Given the description of an element on the screen output the (x, y) to click on. 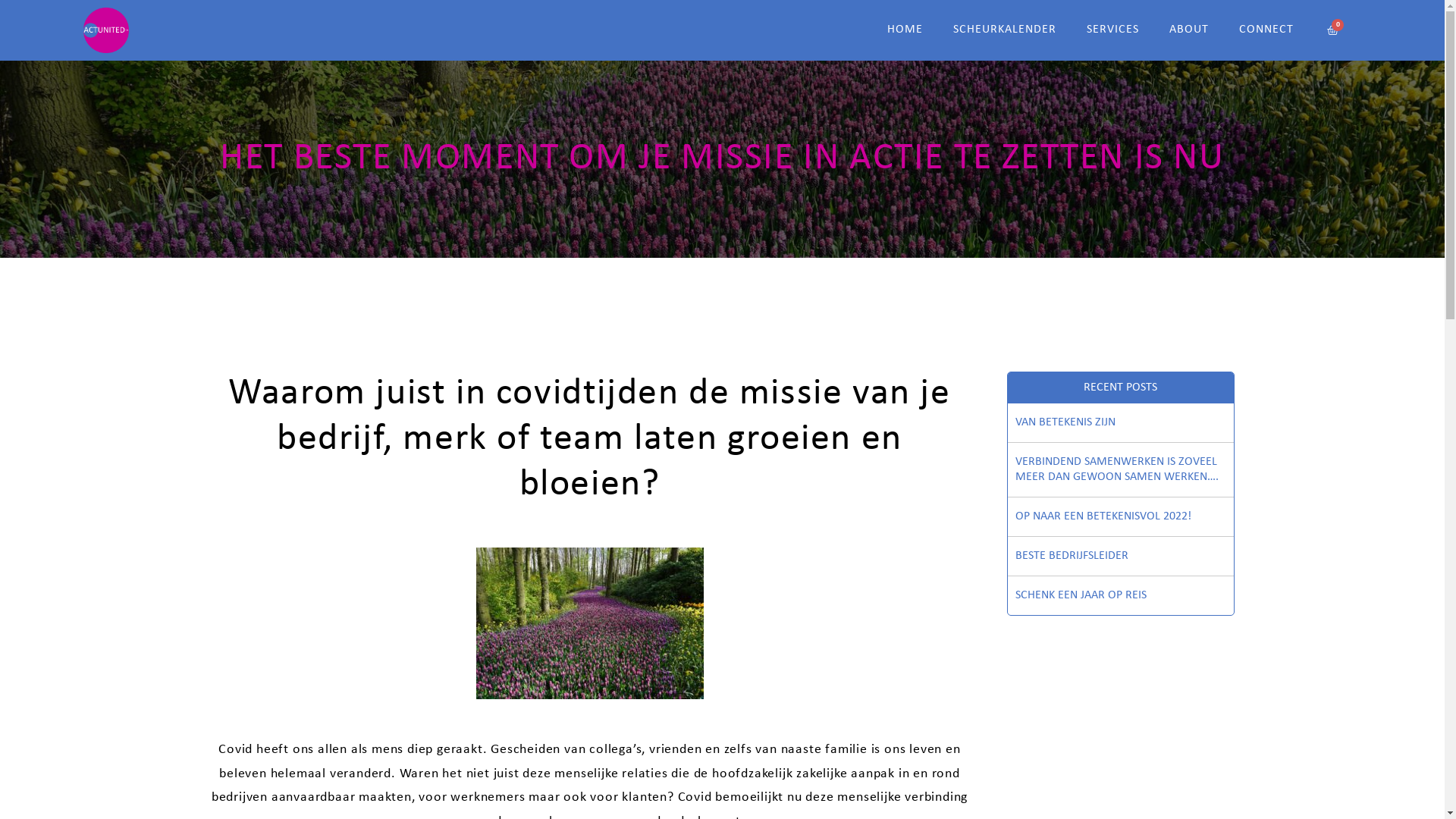
OP NAAR EEN BETEKENISVOL 2022! Element type: text (1120, 516)
VAN BETEKENIS ZIJN Element type: text (1120, 422)
ABOUT Element type: text (1188, 29)
BESTE BEDRIJFSLEIDER Element type: text (1120, 555)
SCHEURKALENDER Element type: text (1004, 29)
SCHENK EEN JAAR OP REIS Element type: text (1120, 595)
HOME Element type: text (905, 29)
SERVICES Element type: text (1112, 29)
CONNECT Element type: text (1265, 29)
